Given the description of an element on the screen output the (x, y) to click on. 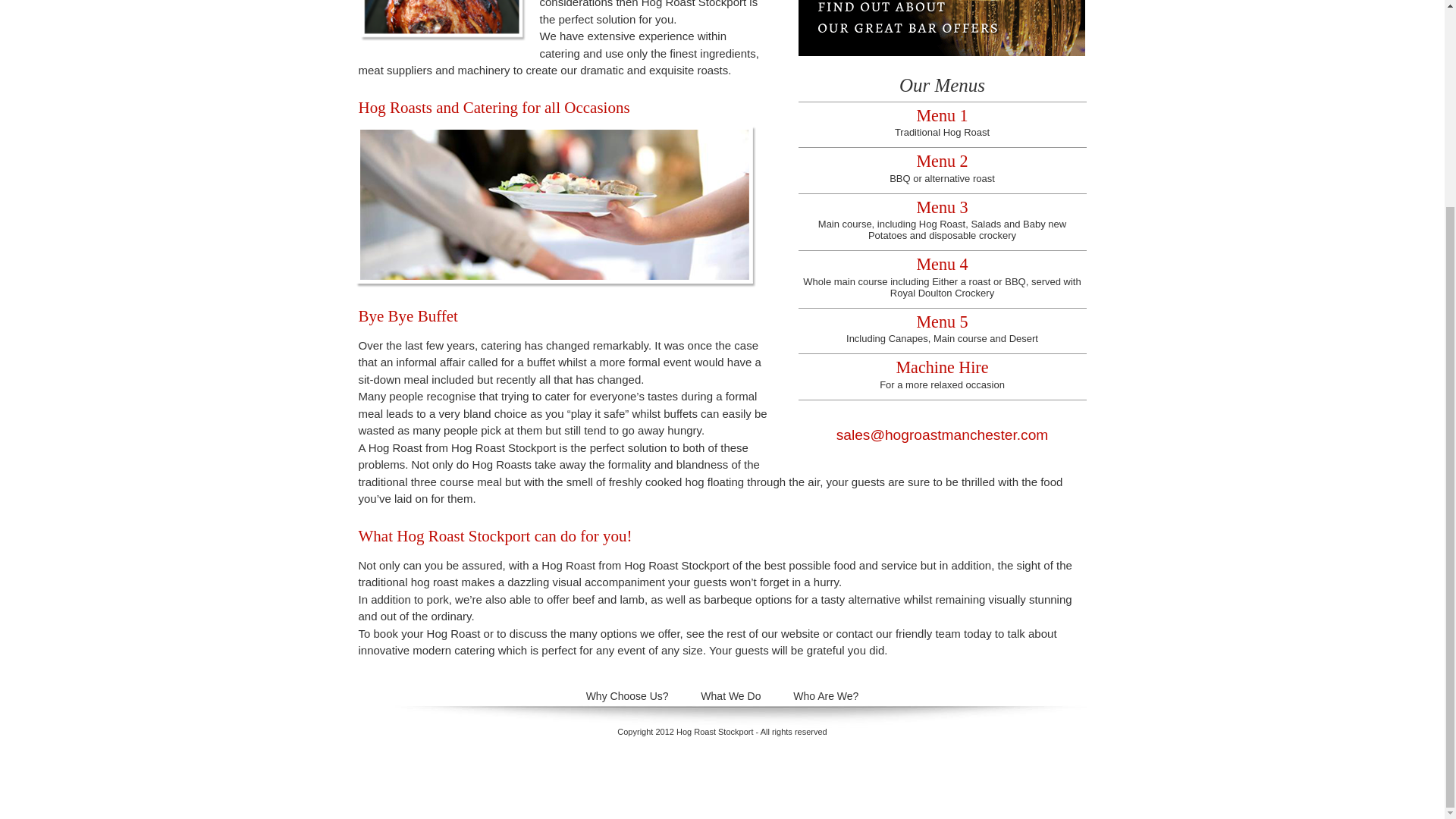
Hog Roast Stockport (941, 330)
hog roast stockport (941, 376)
hog roast stockport (715, 731)
Why Choose Us? (941, 170)
Who Are We? (446, 23)
What We Do (941, 125)
